Given the description of an element on the screen output the (x, y) to click on. 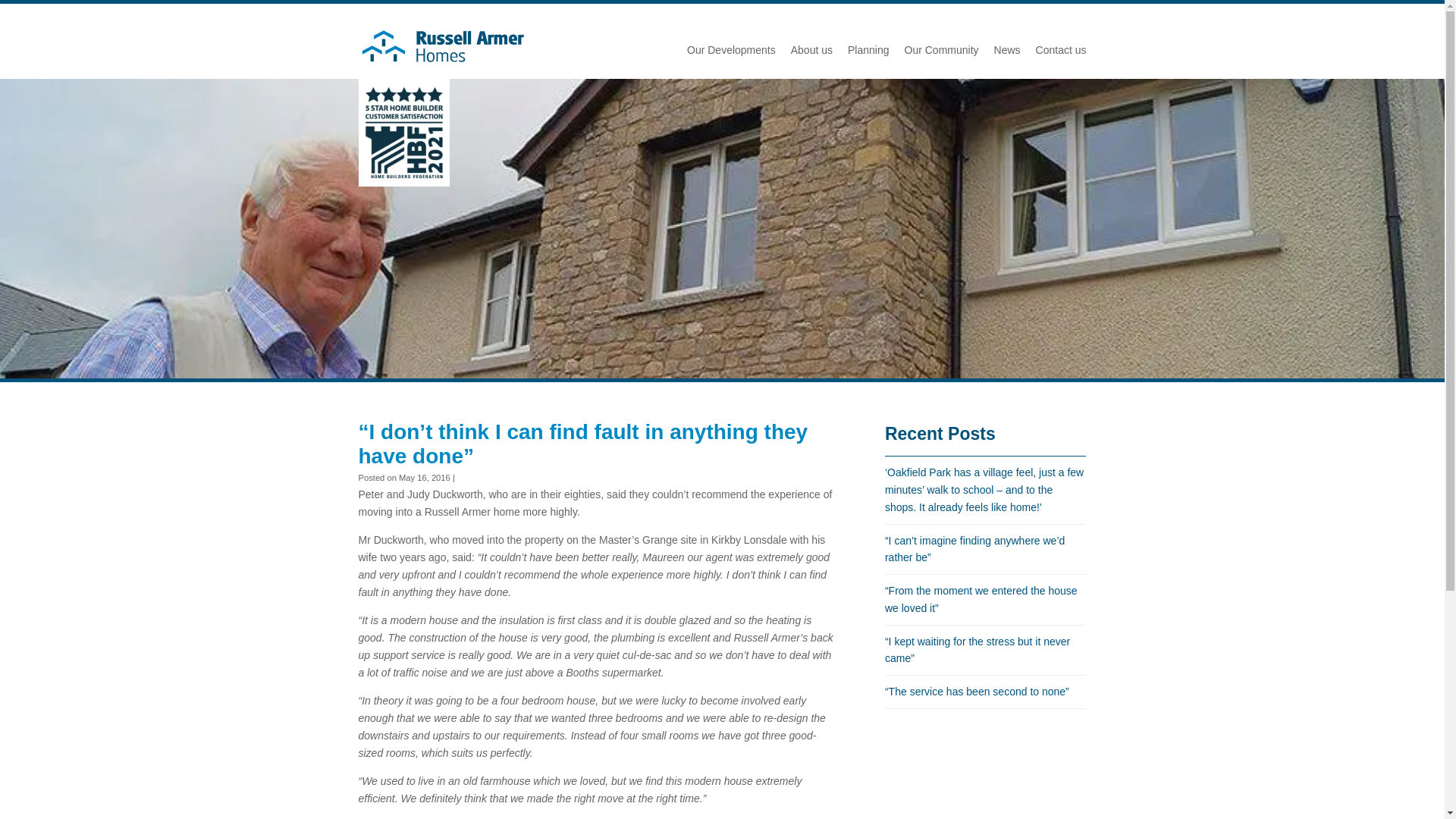
Planning (868, 49)
Contact us (1060, 49)
Our Community (941, 49)
About us (811, 49)
News (1007, 49)
Our Developments (731, 49)
